Given the description of an element on the screen output the (x, y) to click on. 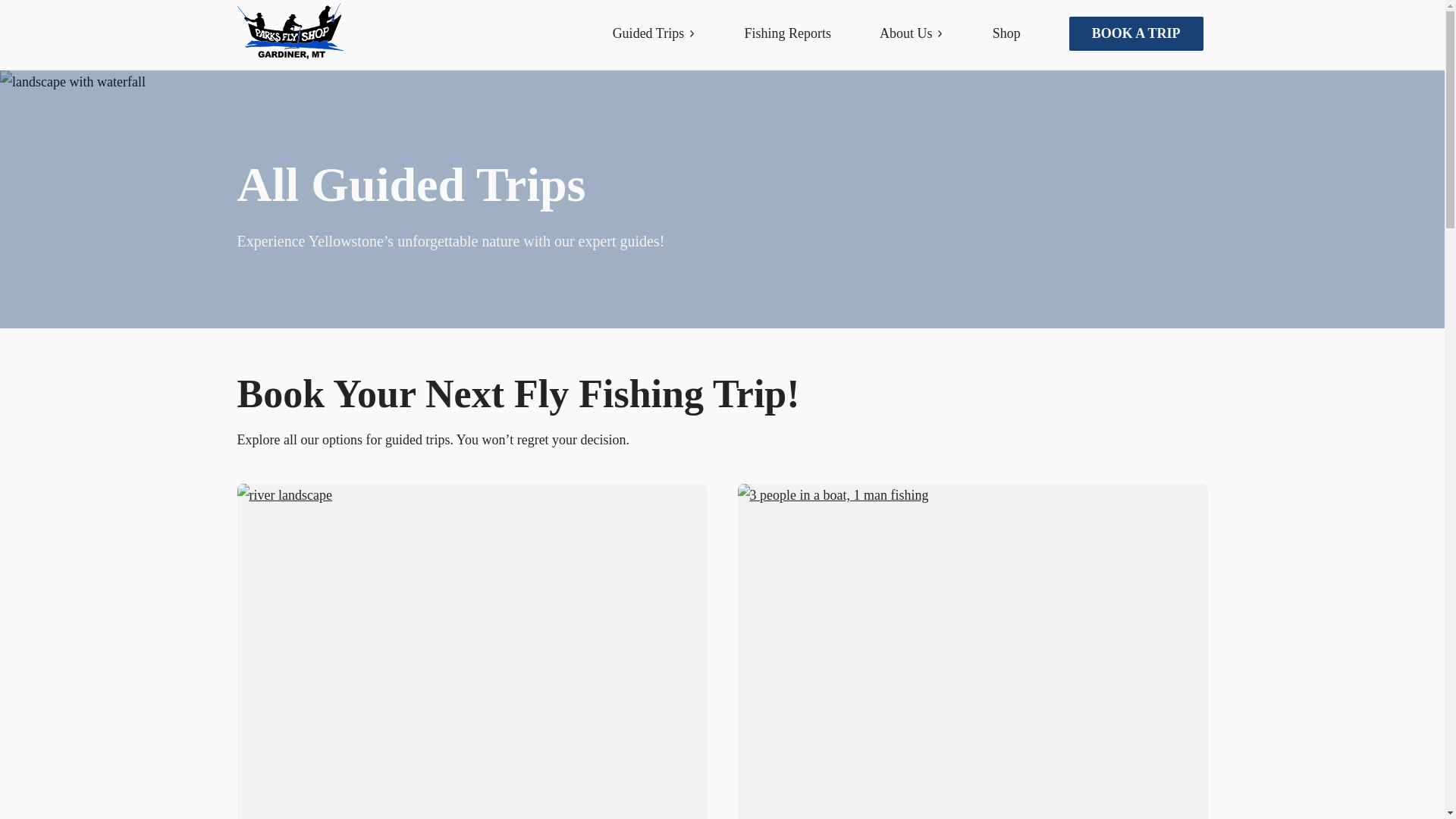
BOOK A TRIP (1136, 33)
About Us (911, 33)
Fishing Reports (787, 33)
Shop (1006, 33)
Guided Trips (653, 33)
